Given the description of an element on the screen output the (x, y) to click on. 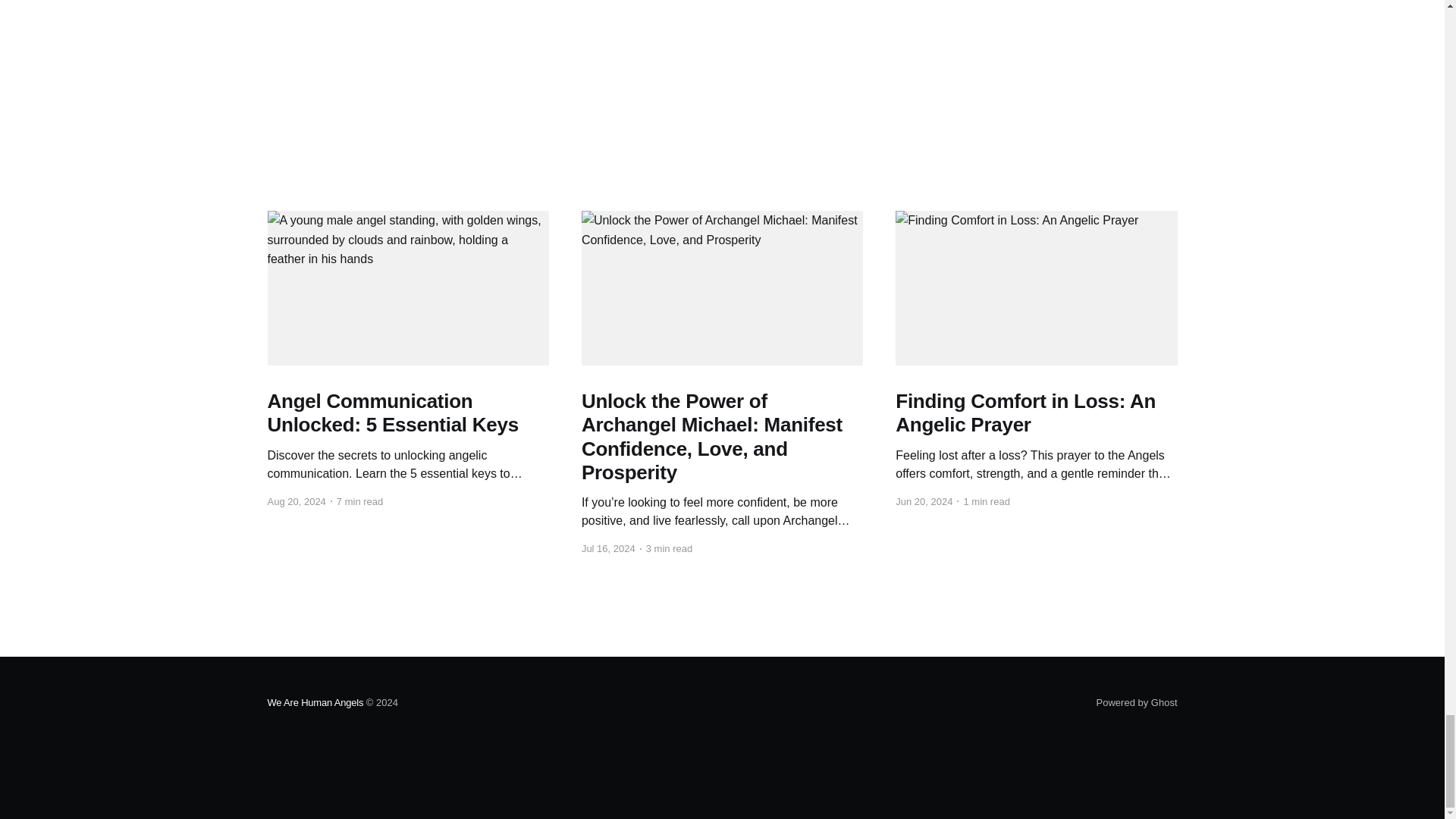
We Are Human Angels (315, 702)
Powered by Ghost (1136, 702)
